Given the description of an element on the screen output the (x, y) to click on. 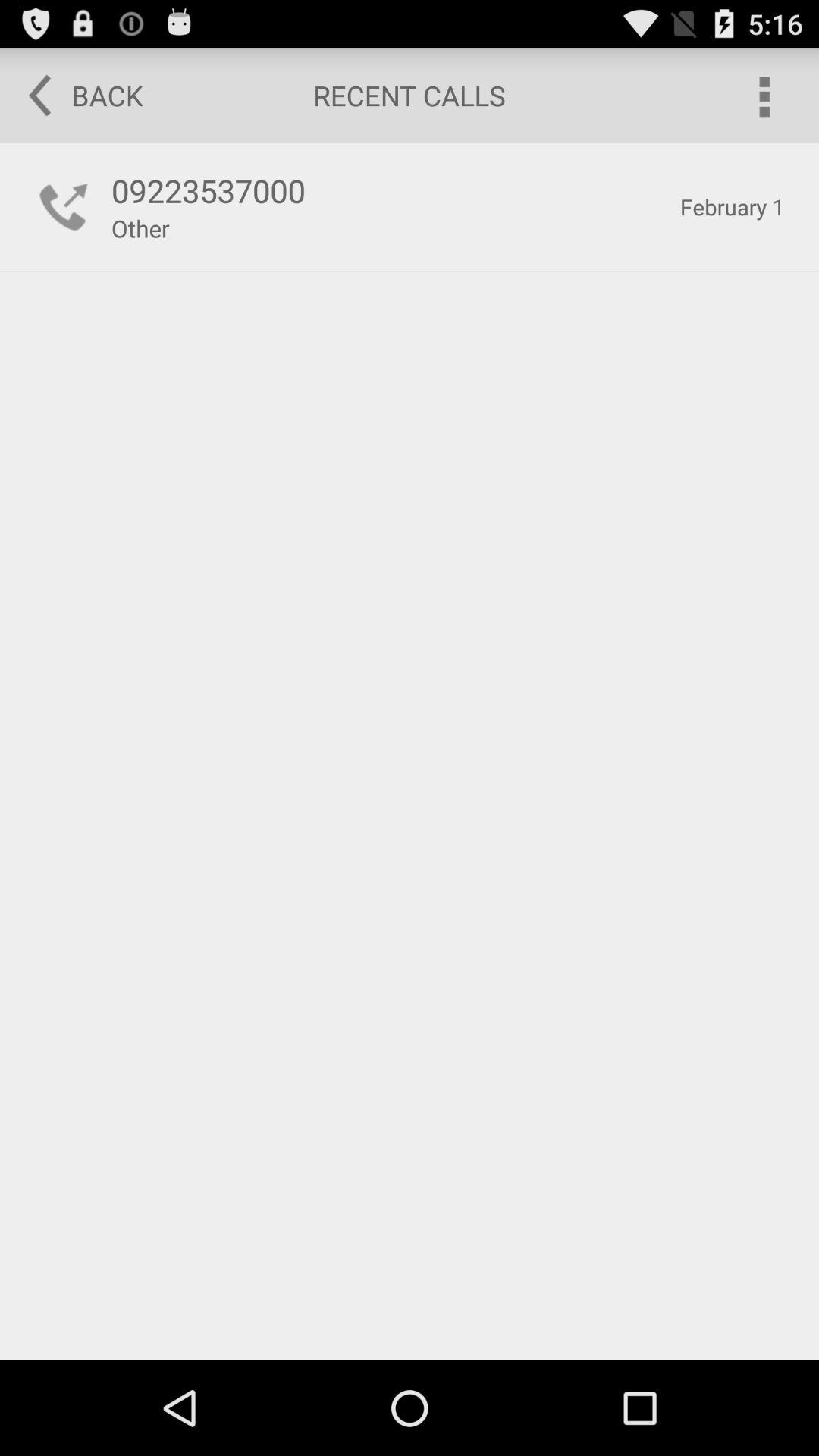
turn off item next to the 09223537000 item (732, 206)
